Given the description of an element on the screen output the (x, y) to click on. 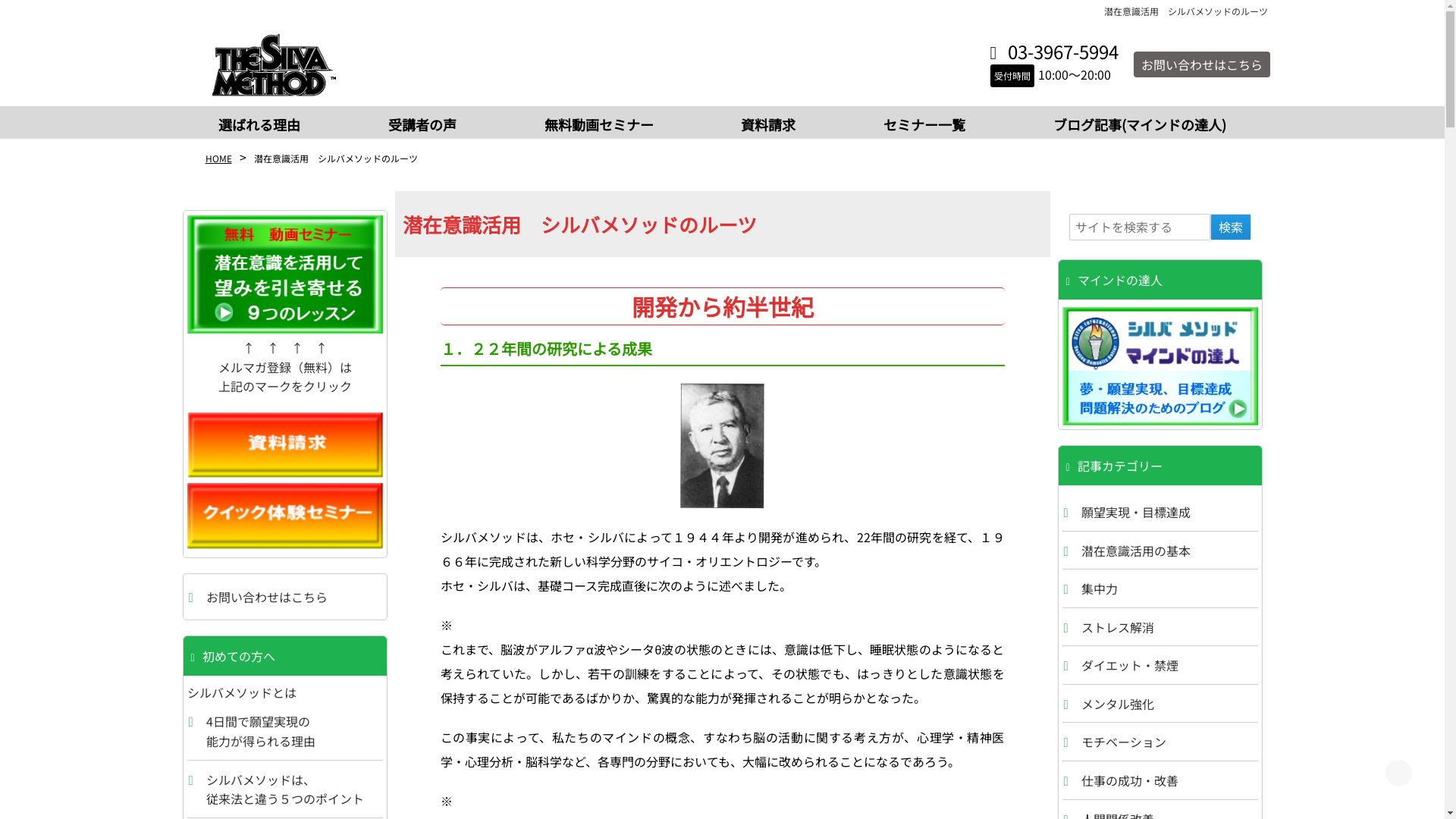
HOME Element type: text (217, 157)
